Given the description of an element on the screen output the (x, y) to click on. 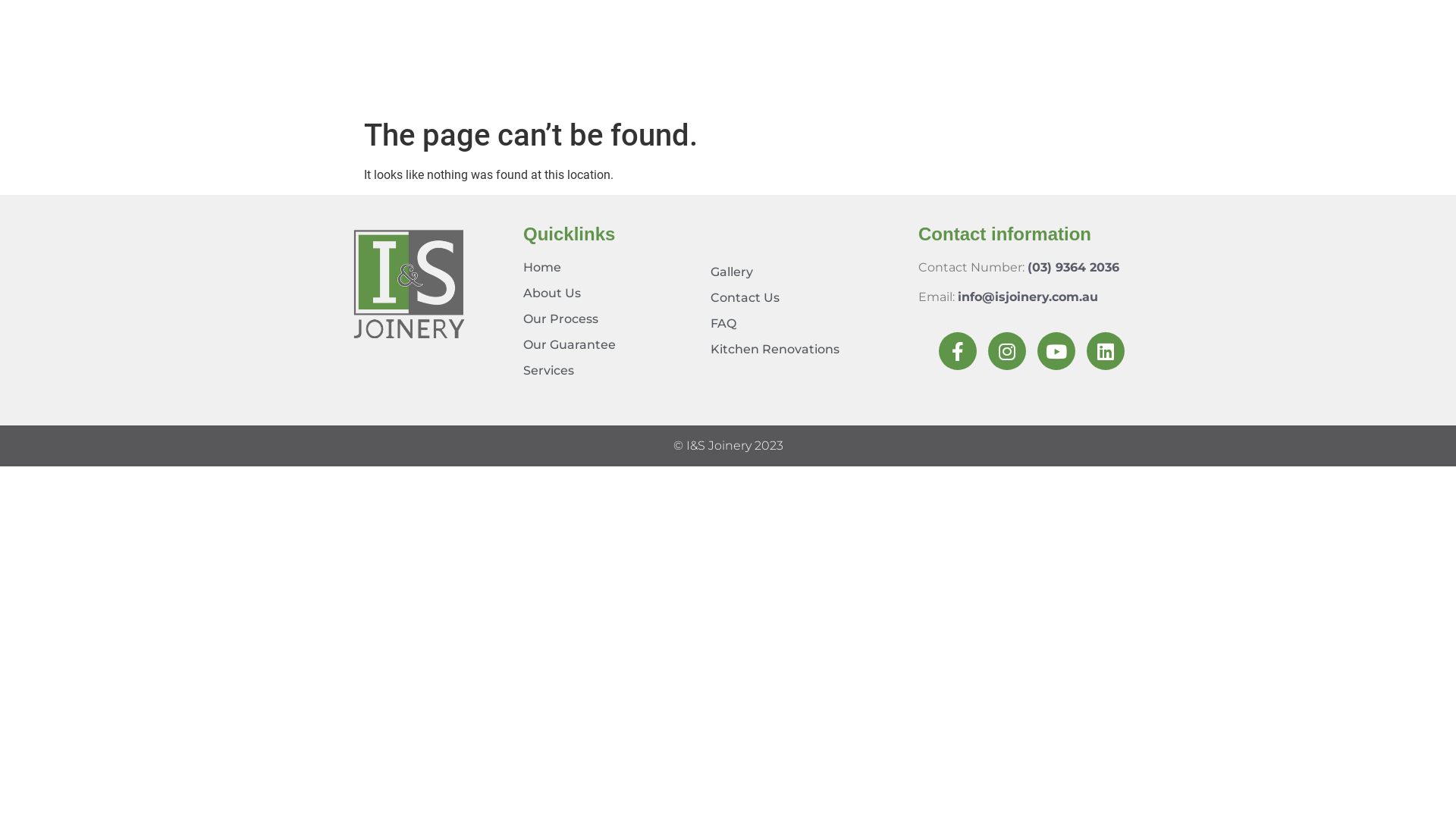
CUSTOM JOINERY Element type: text (816, 77)
Kitchen Renovations Element type: text (806, 349)
CONTACT US Element type: text (1158, 77)
(03) 9364 2036 Element type: text (1073, 267)
GALLERY Element type: text (942, 77)
Home Element type: text (609, 267)
HOME Element type: text (297, 77)
Services Element type: text (609, 370)
SERVICES Element type: text (381, 77)
info@isjoinery.com.au Element type: text (1027, 296)
Our Process Element type: text (609, 319)
KITCHEN DESIGNS Element type: text (653, 77)
Our Guarantee Element type: text (609, 344)
Gallery Element type: text (806, 272)
Contact Us Element type: text (806, 297)
ABOUT US Element type: text (1044, 77)
About Us Element type: text (609, 293)
FAQ Element type: text (806, 323)
OUR PROCESS Element type: text (500, 77)
